Given the description of an element on the screen output the (x, y) to click on. 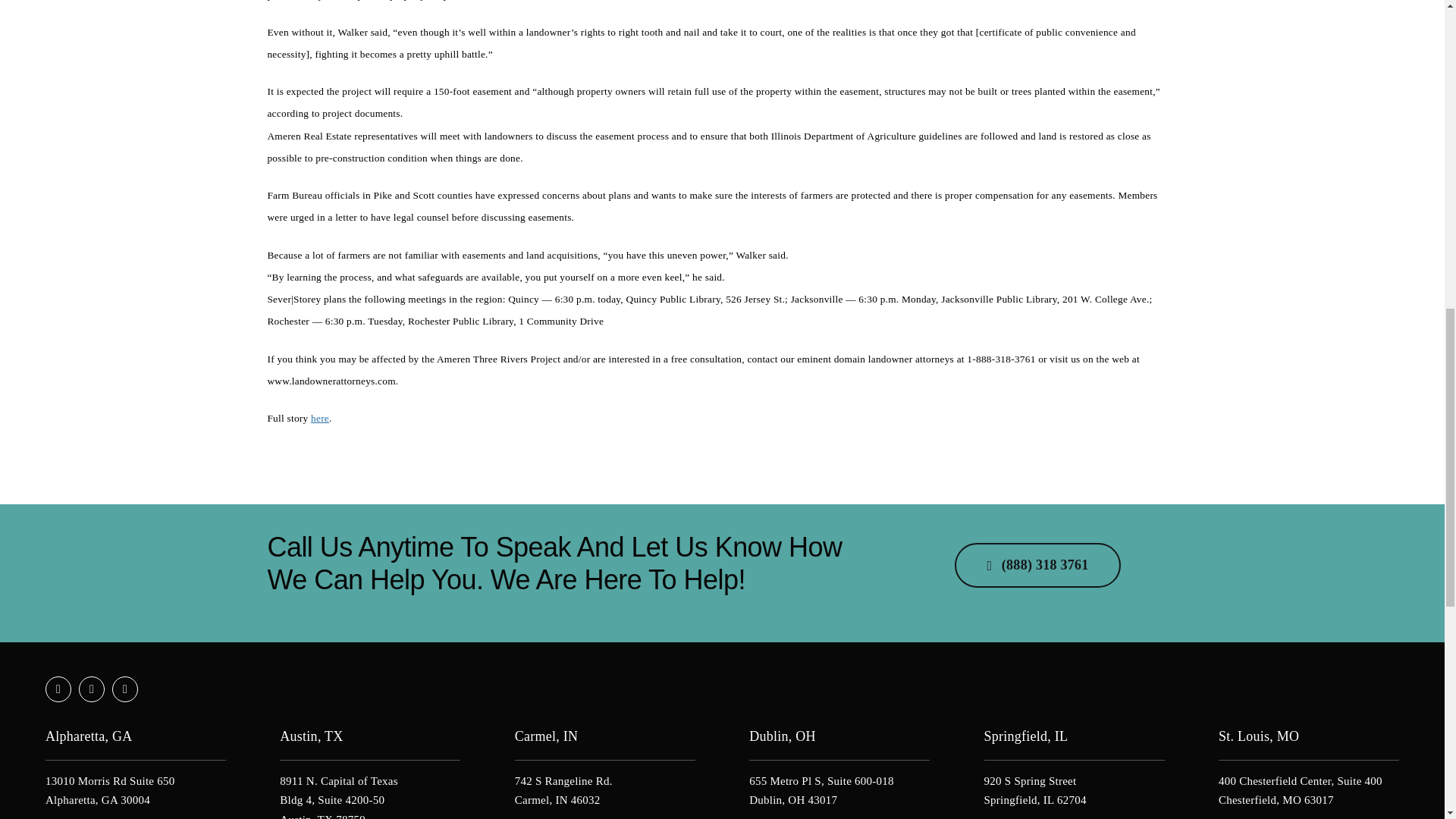
Facebook (58, 688)
LinkedIn (125, 688)
X (91, 688)
